Given the description of an element on the screen output the (x, y) to click on. 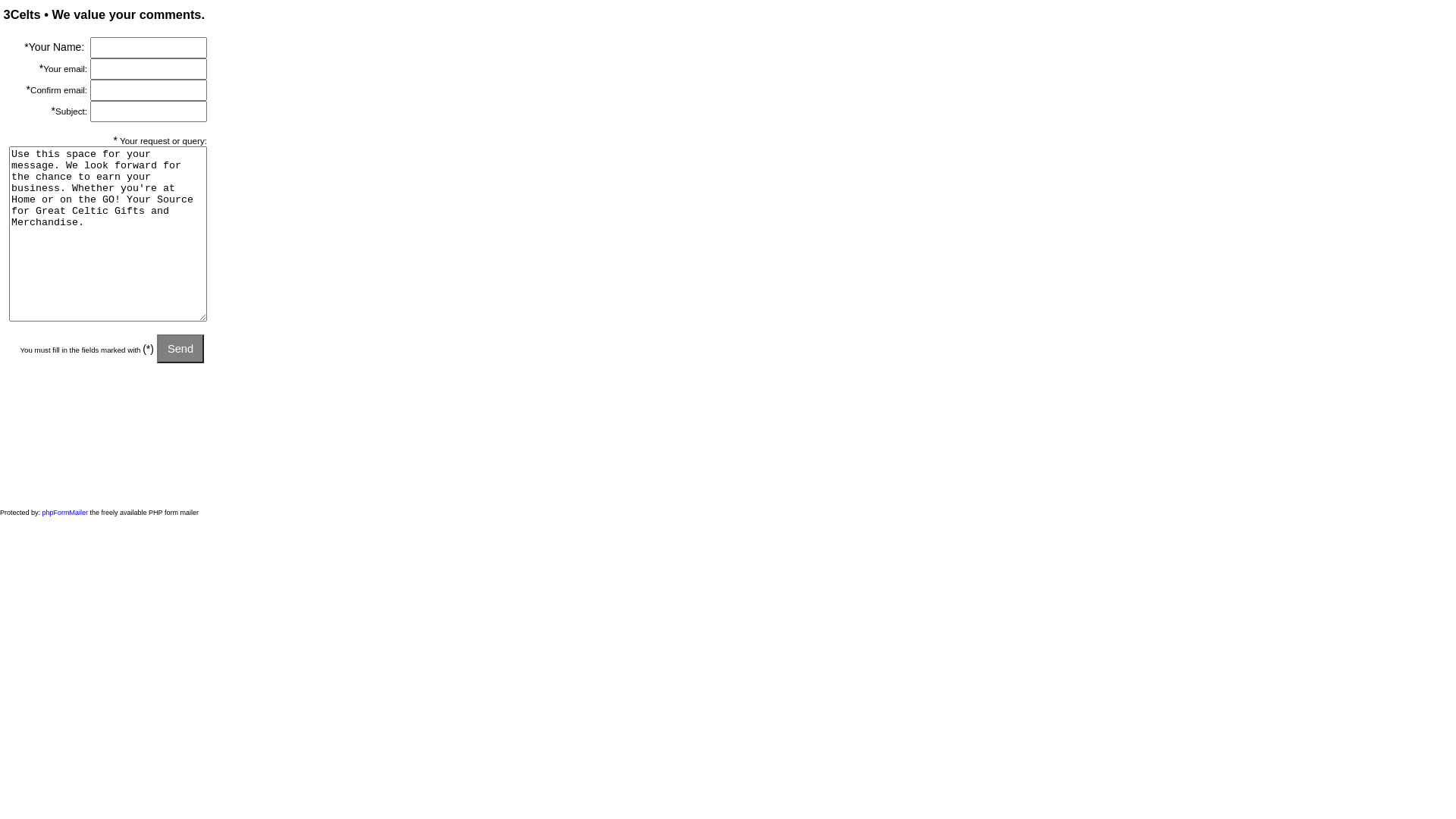
Send Element type: text (179, 348)
phpFormMailer Element type: text (65, 512)
